Given the description of an element on the screen output the (x, y) to click on. 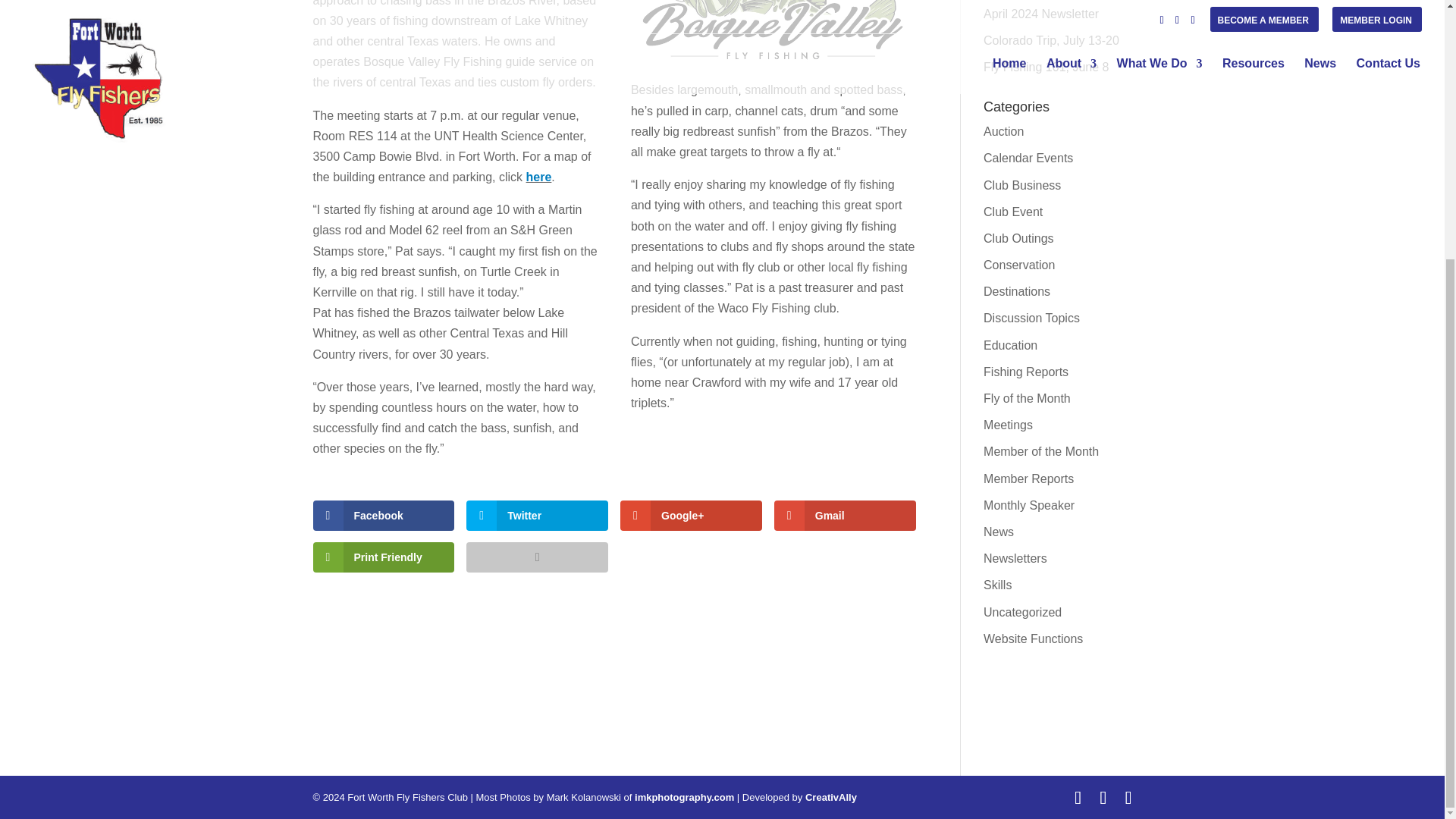
Bosque valley fly fishing logo (772, 31)
